Given the description of an element on the screen output the (x, y) to click on. 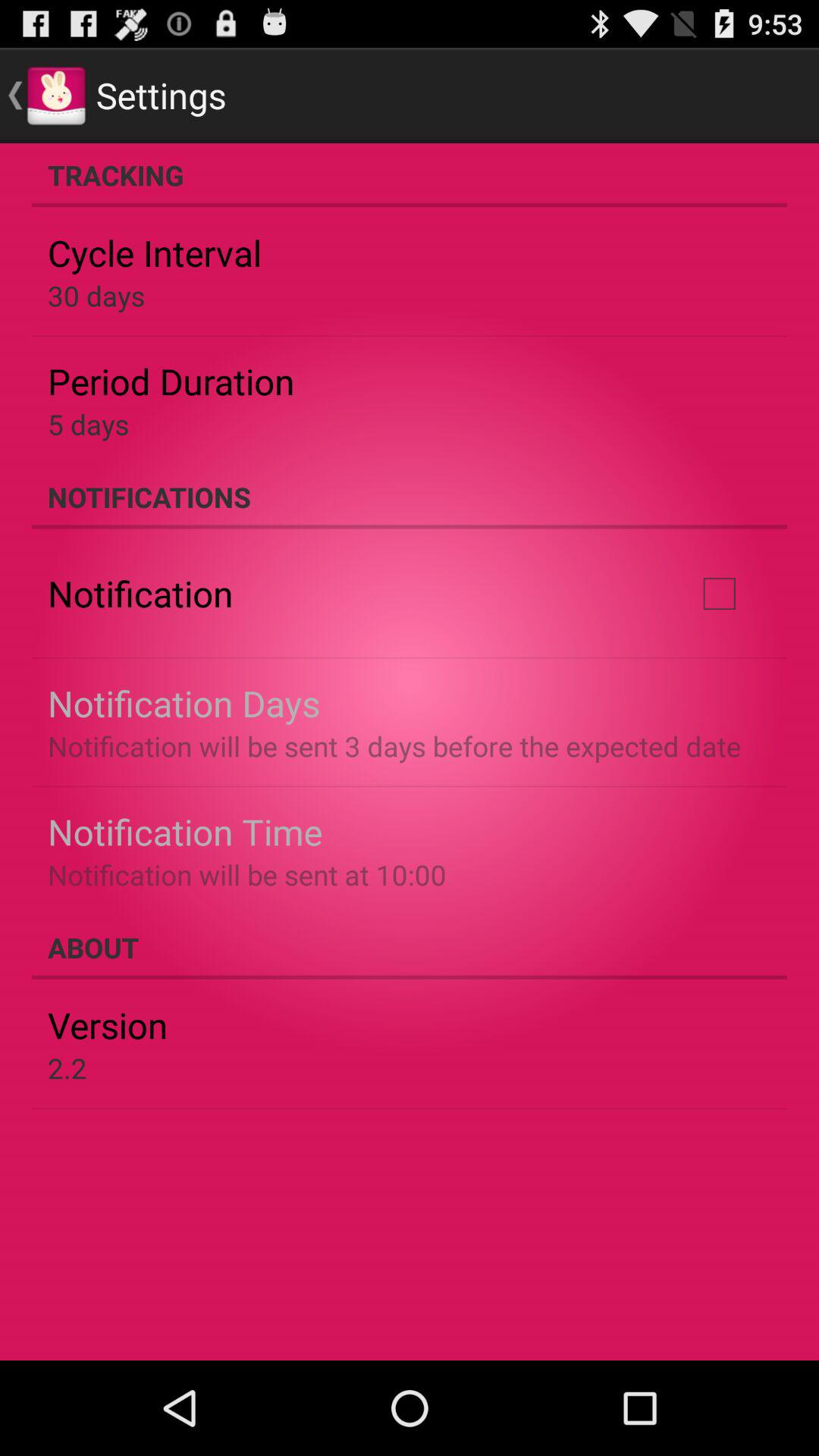
tap the version item (107, 1025)
